Given the description of an element on the screen output the (x, y) to click on. 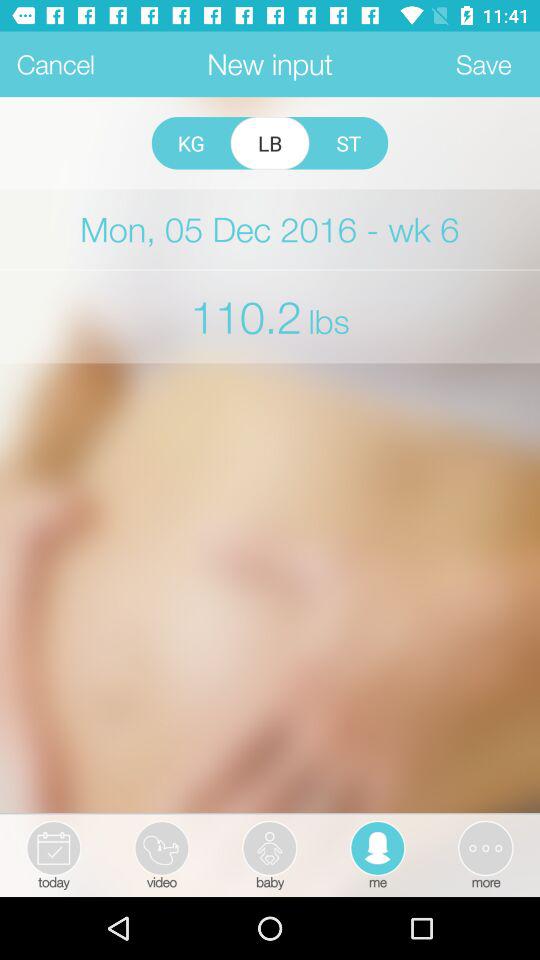
turn off the icon next to lb icon (348, 143)
